Given the description of an element on the screen output the (x, y) to click on. 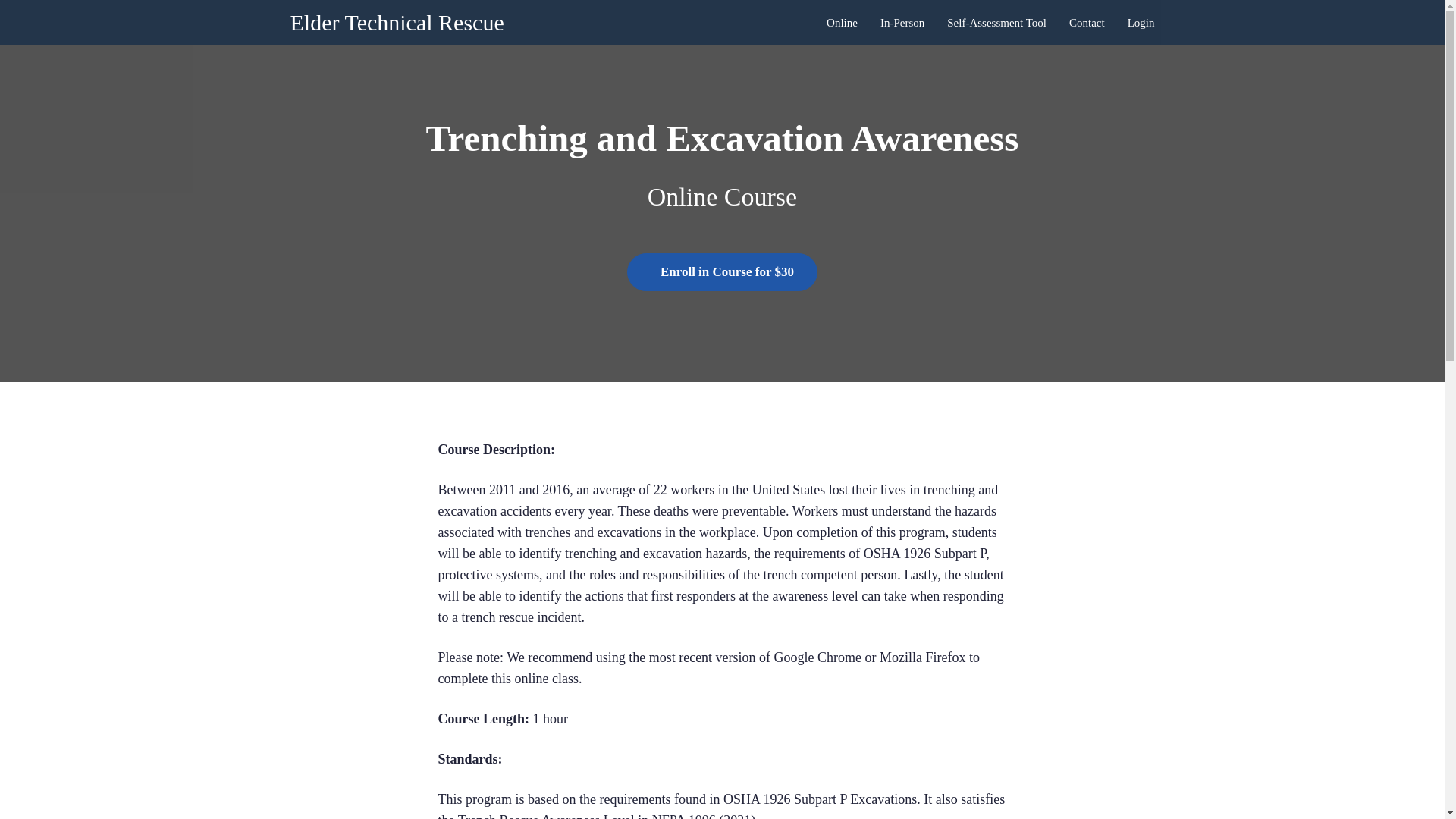
Online (842, 22)
Elder Technical Rescue (397, 22)
Login (1141, 22)
In-Person (902, 22)
Self-Assessment Tool (997, 22)
Contact (1087, 22)
